Given the description of an element on the screen output the (x, y) to click on. 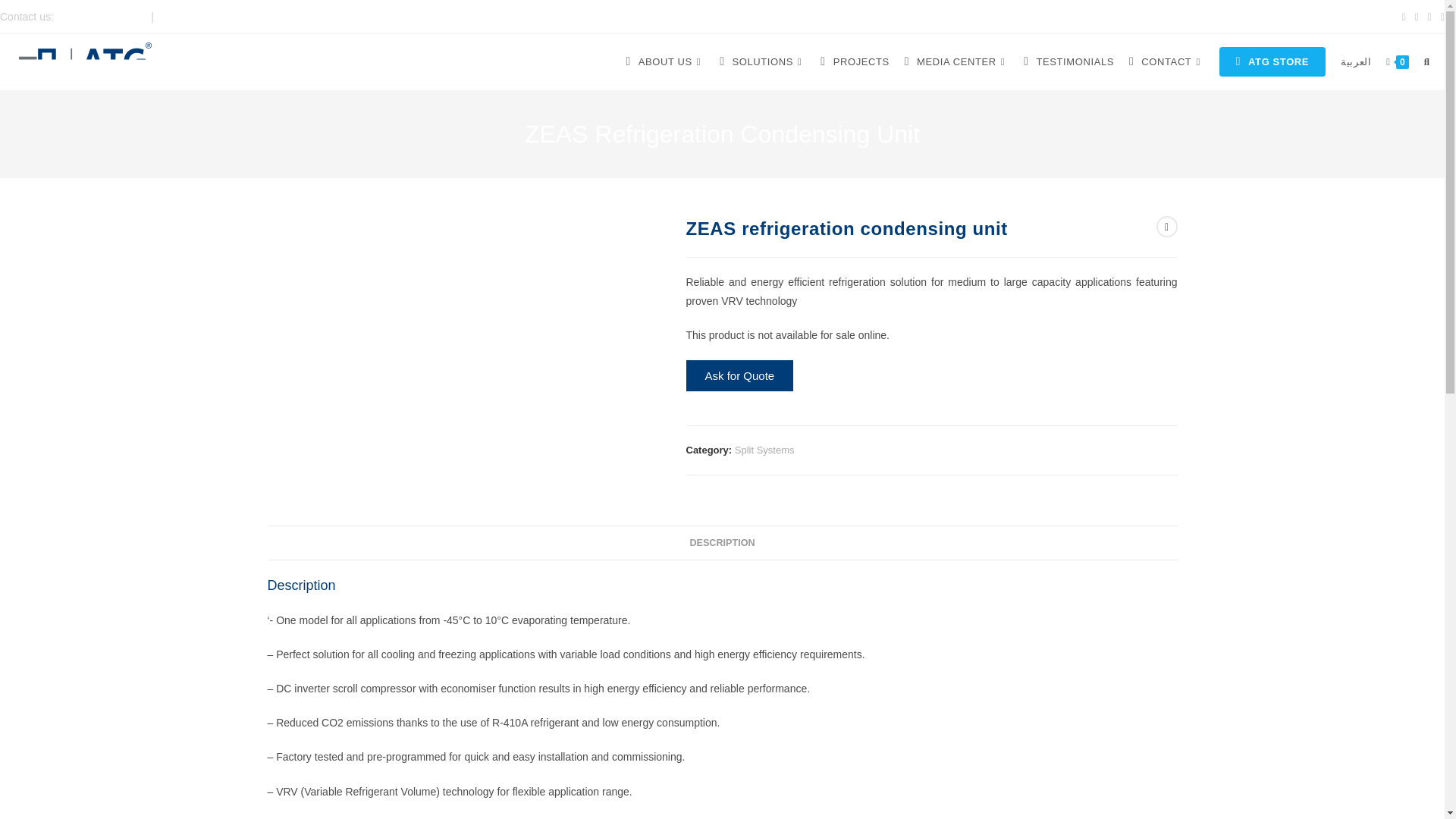
ABOUT US (664, 62)
MEDIA CENTER (956, 62)
SOLUTIONS (761, 62)
CONTACT (1166, 62)
PROJECTS (854, 62)
TESTIMONIALS (1068, 62)
